Given the description of an element on the screen output the (x, y) to click on. 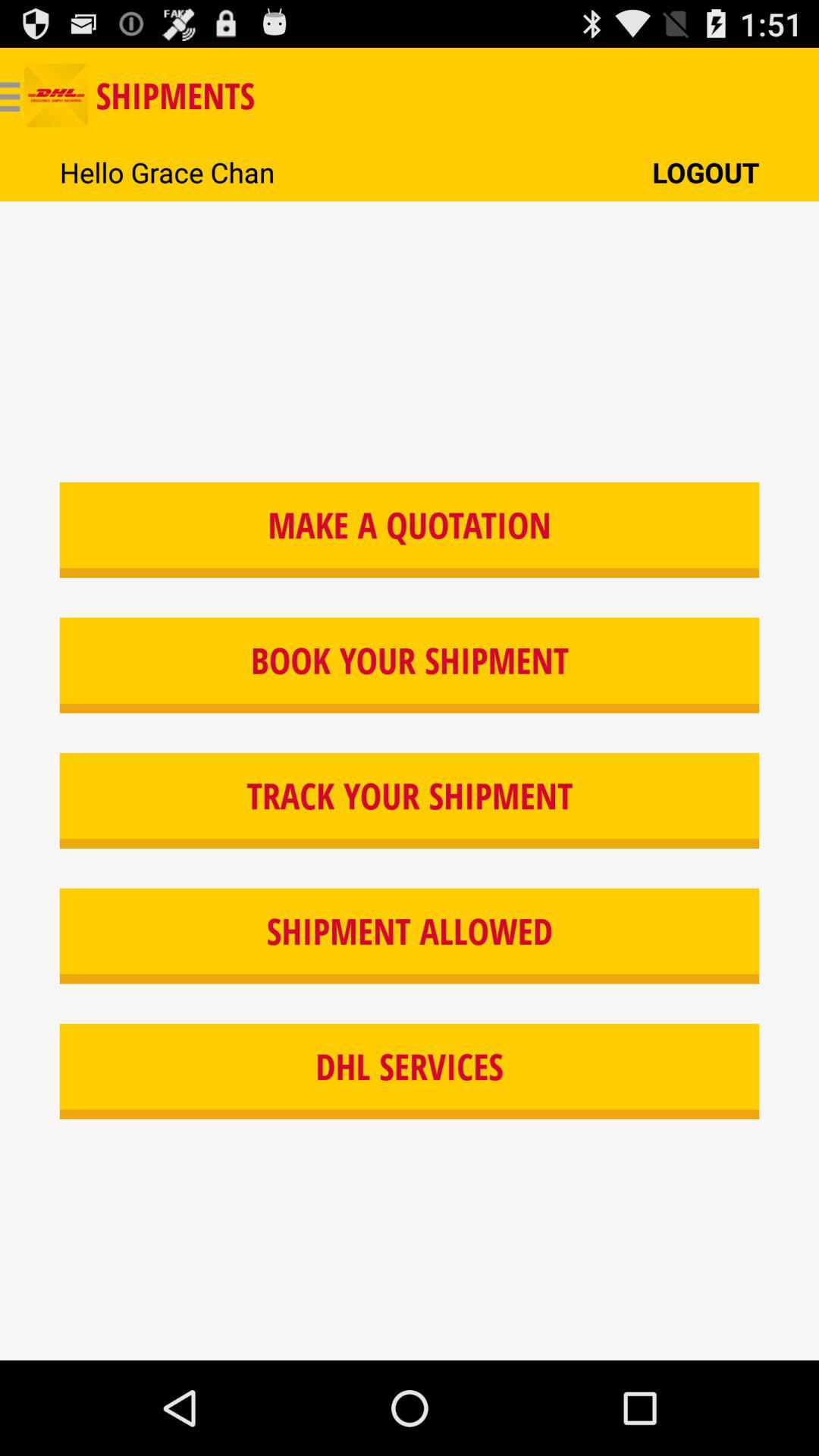
turn off the button above make a quotation (705, 172)
